Given the description of an element on the screen output the (x, y) to click on. 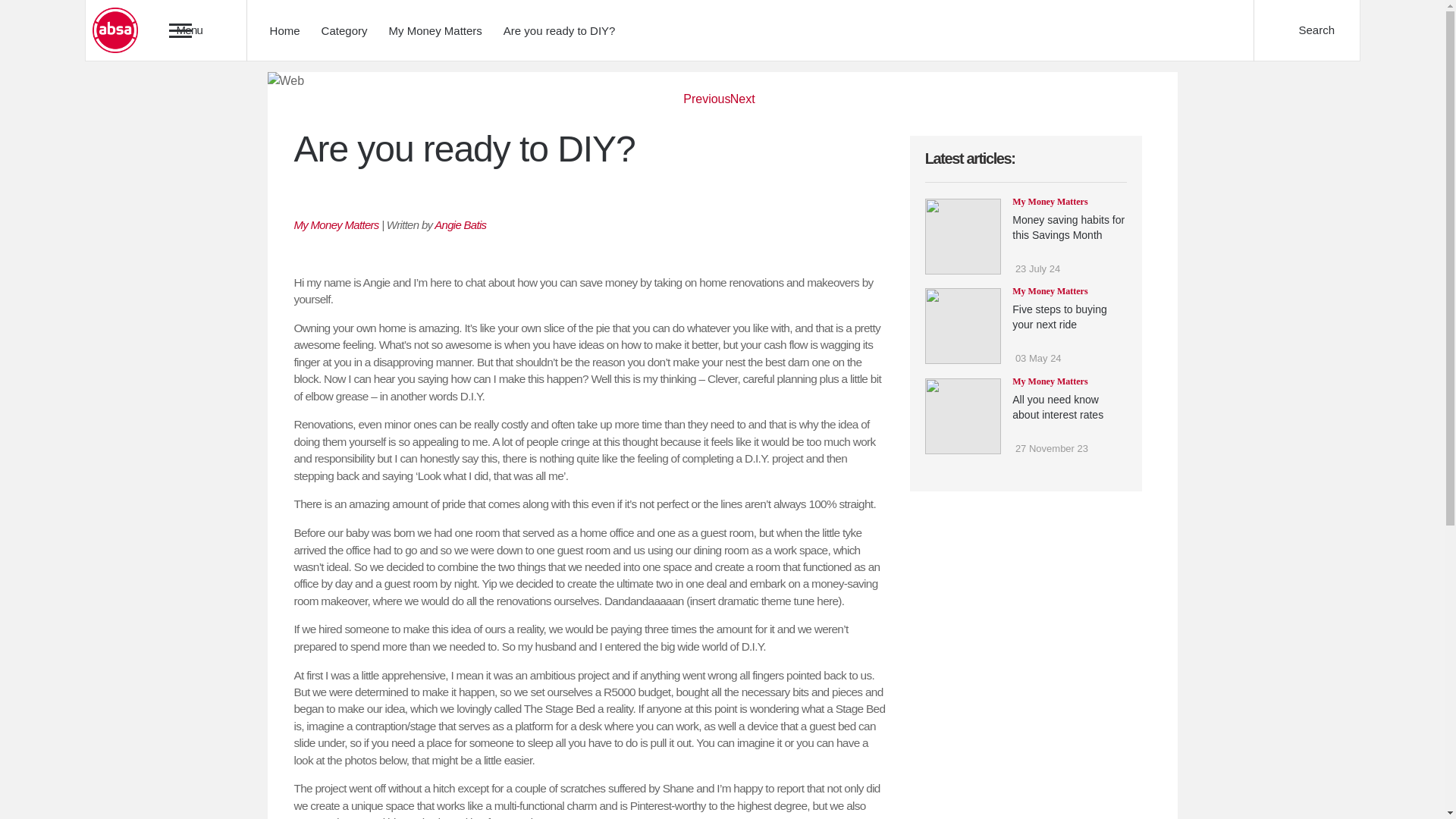
Next (742, 108)
My Money Matters (336, 224)
My Money Matters (336, 224)
My Money Matters (1049, 200)
Angie Batis (459, 224)
My Money Matters (434, 30)
Posts by Absa Staff Writer (459, 224)
Category (344, 30)
Are you ready to DIY? (559, 30)
Home (284, 30)
